Given the description of an element on the screen output the (x, y) to click on. 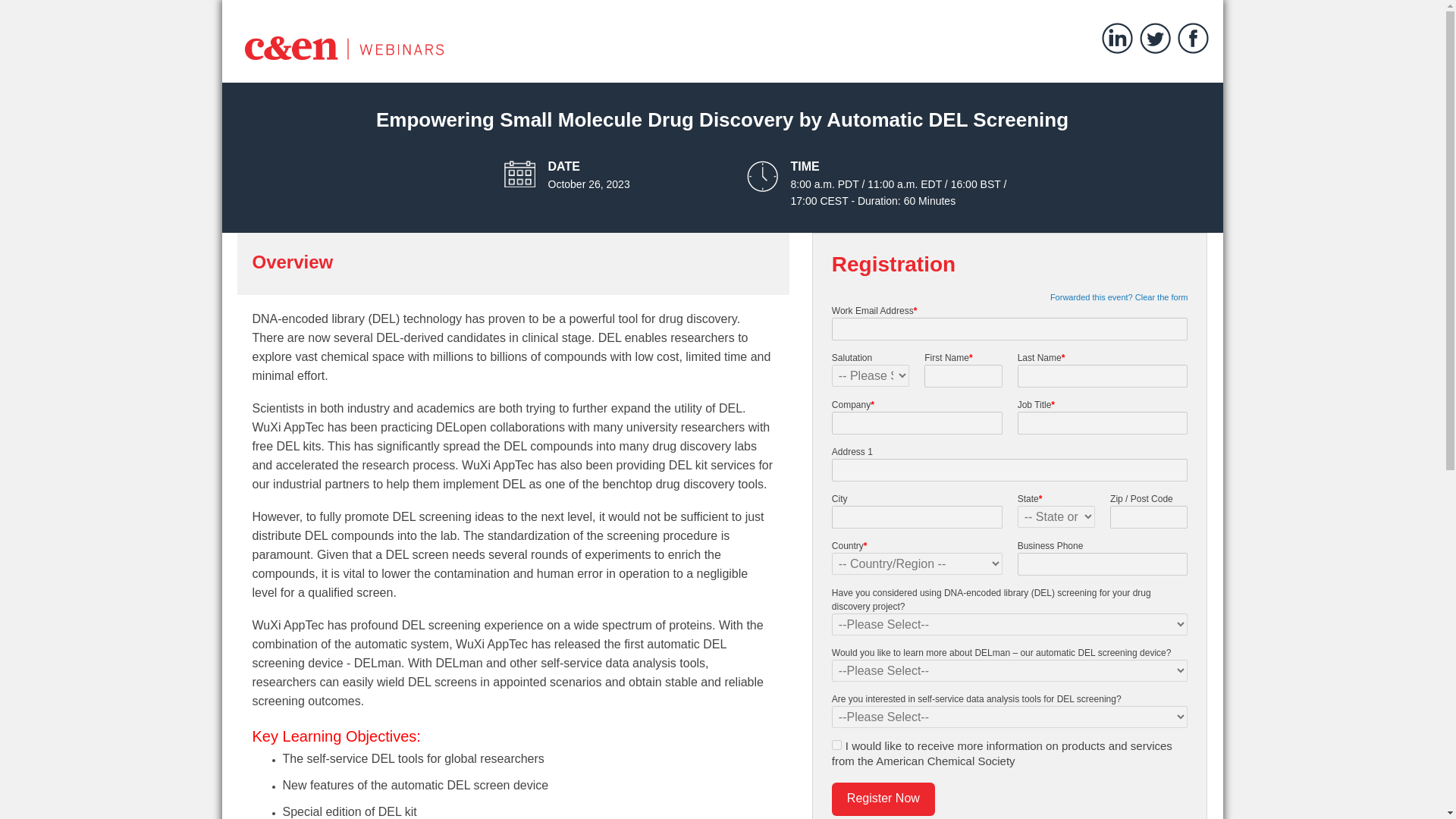
Register Now (882, 798)
on (836, 745)
Forwarded this event? Clear the form (1118, 297)
